Given the description of an element on the screen output the (x, y) to click on. 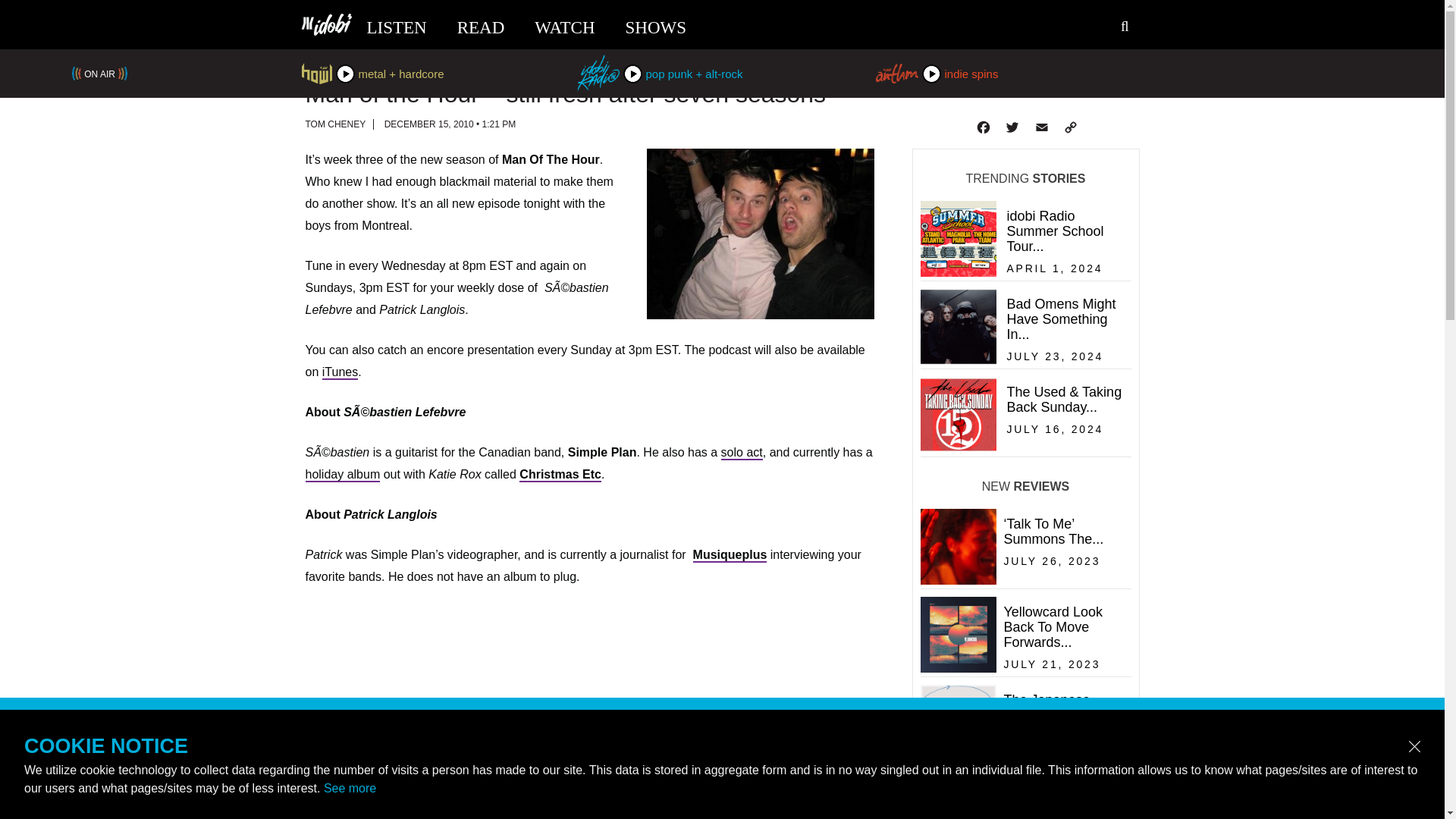
holiday album (342, 474)
Christmas Etc (560, 474)
Email (1040, 126)
LISTEN (396, 27)
Copy Link (1069, 126)
SHOWS (656, 27)
solo act (1023, 237)
WATCH (1023, 326)
Musiqueplus (741, 452)
TOM CHENEY (564, 27)
Twitter (730, 554)
Facebook (334, 123)
Tom Cheney (1011, 126)
